Given the description of an element on the screen output the (x, y) to click on. 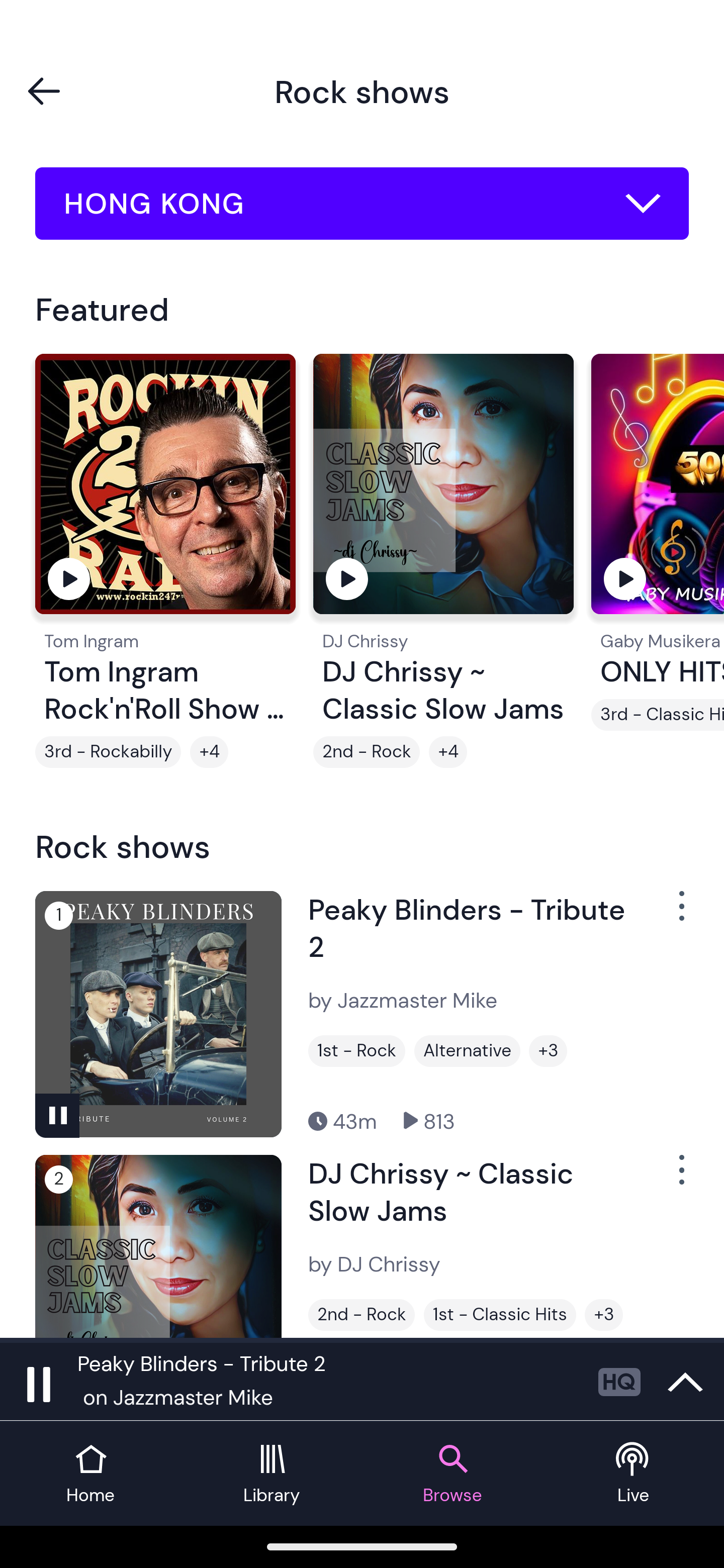
HONG KONG (361, 203)
3rd - Classic Hits (657, 714)
3rd - Rockabilly (108, 752)
2nd - Rock (366, 752)
Show Options Menu Button (679, 913)
1st - Rock (356, 1050)
Alternative (467, 1050)
Show Options Menu Button (679, 1178)
2nd - Rock (361, 1315)
1st - Classic Hits (499, 1315)
Home tab Home (90, 1473)
Library tab Library (271, 1473)
Browse tab Browse (452, 1473)
Live tab Live (633, 1473)
